Given the description of an element on the screen output the (x, y) to click on. 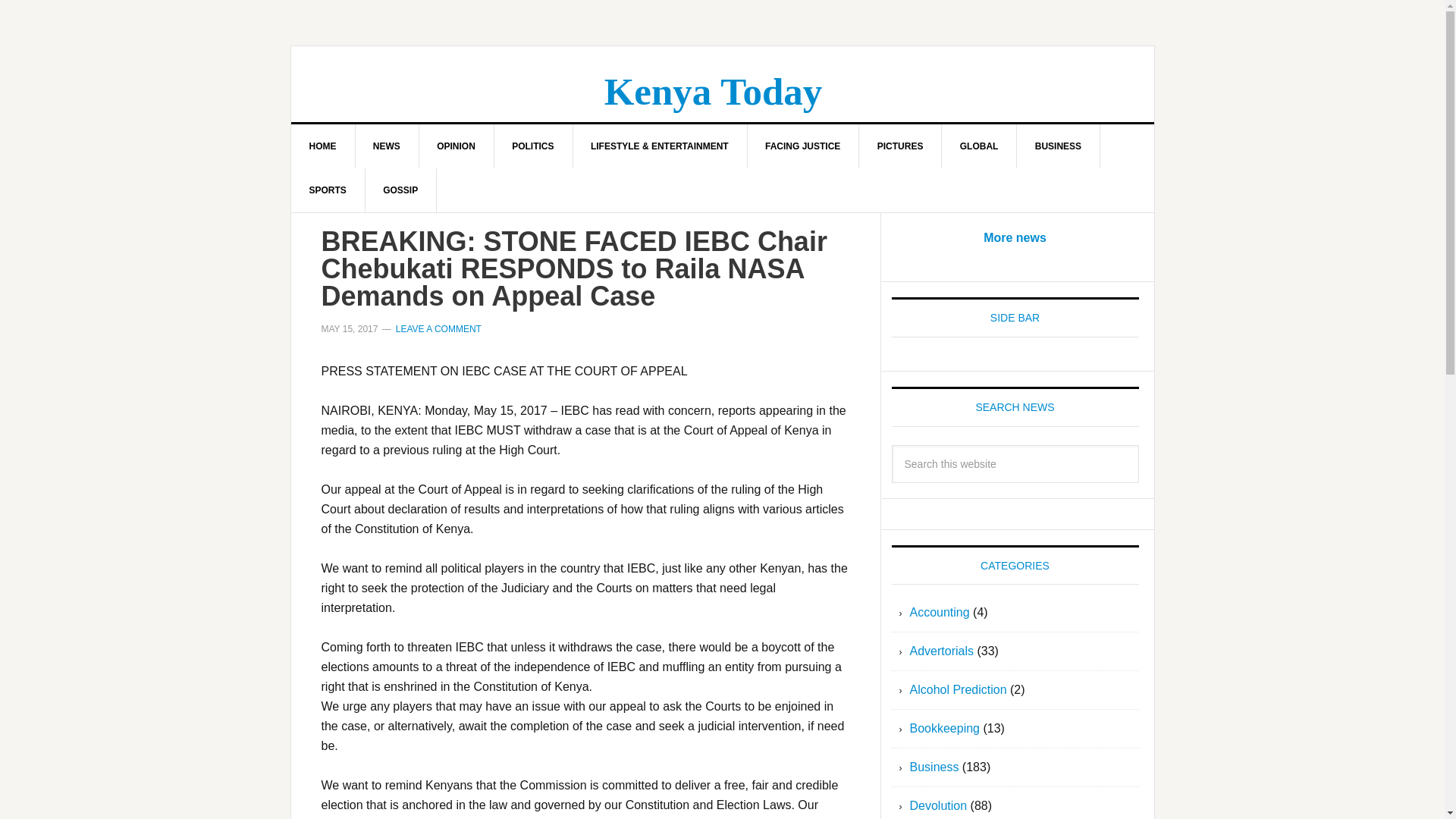
FACING JUSTICE (802, 146)
Bookkeeping (944, 727)
LEAVE A COMMENT (438, 328)
Devolution (939, 805)
Kenya Today (713, 91)
Business (934, 766)
BUSINESS (1058, 146)
GLOBAL (979, 146)
POLITICS (532, 146)
Advertorials (942, 650)
NEWS (387, 146)
Accounting (939, 612)
PICTURES (900, 146)
